Given the description of an element on the screen output the (x, y) to click on. 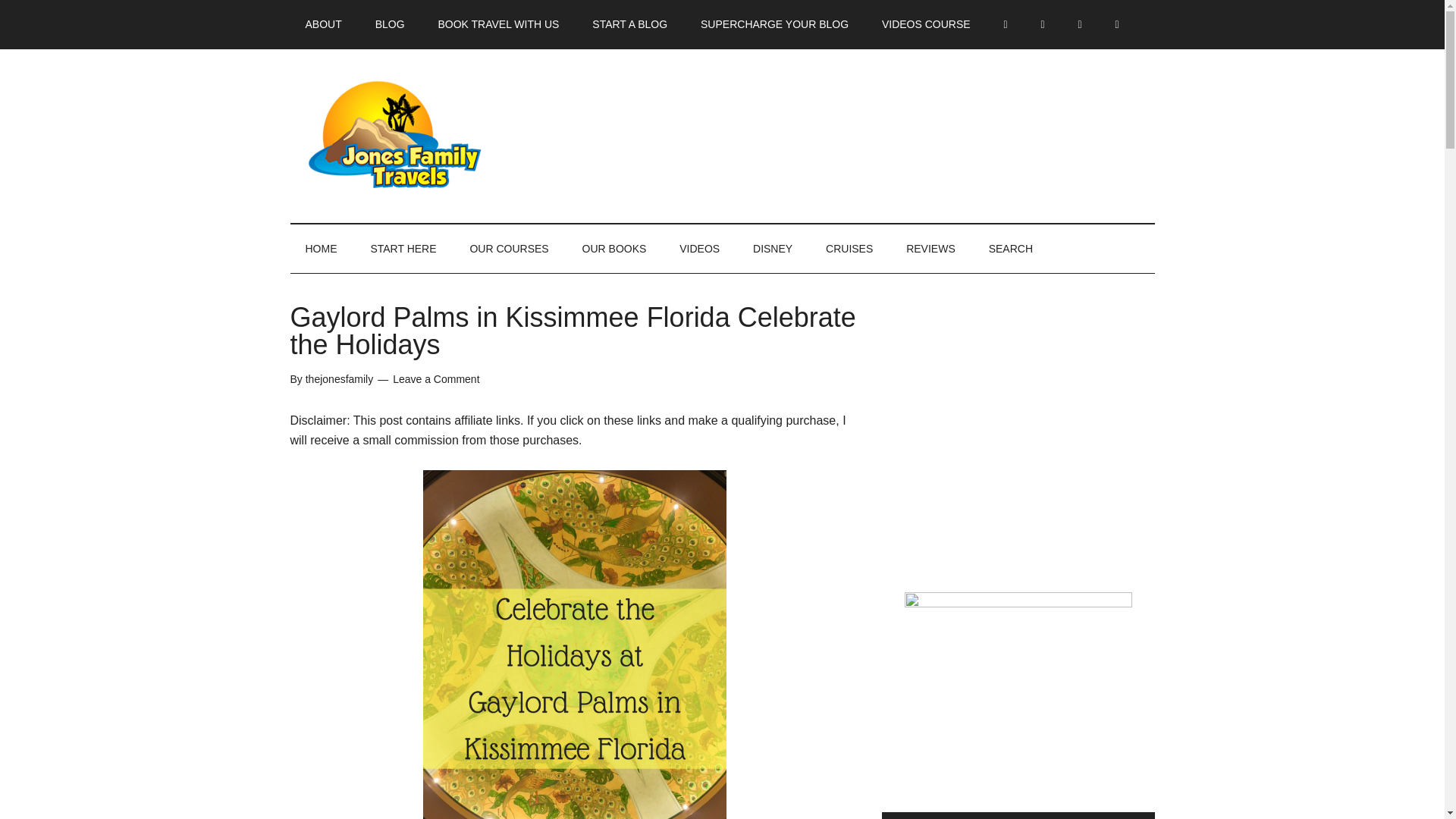
Jones Family Travels (433, 135)
ABOUT (322, 24)
BLOG (389, 24)
Leave a Comment (436, 378)
START A BLOG (629, 24)
START HERE (403, 248)
HOME (320, 248)
DISNEY (773, 248)
OUR BOOKS (614, 248)
VIDEOS COURSE (925, 24)
SEARCH (1011, 248)
OUR COURSES (508, 248)
BOOK TRAVEL WITH US (497, 24)
CRUISES (849, 248)
